Given the description of an element on the screen output the (x, y) to click on. 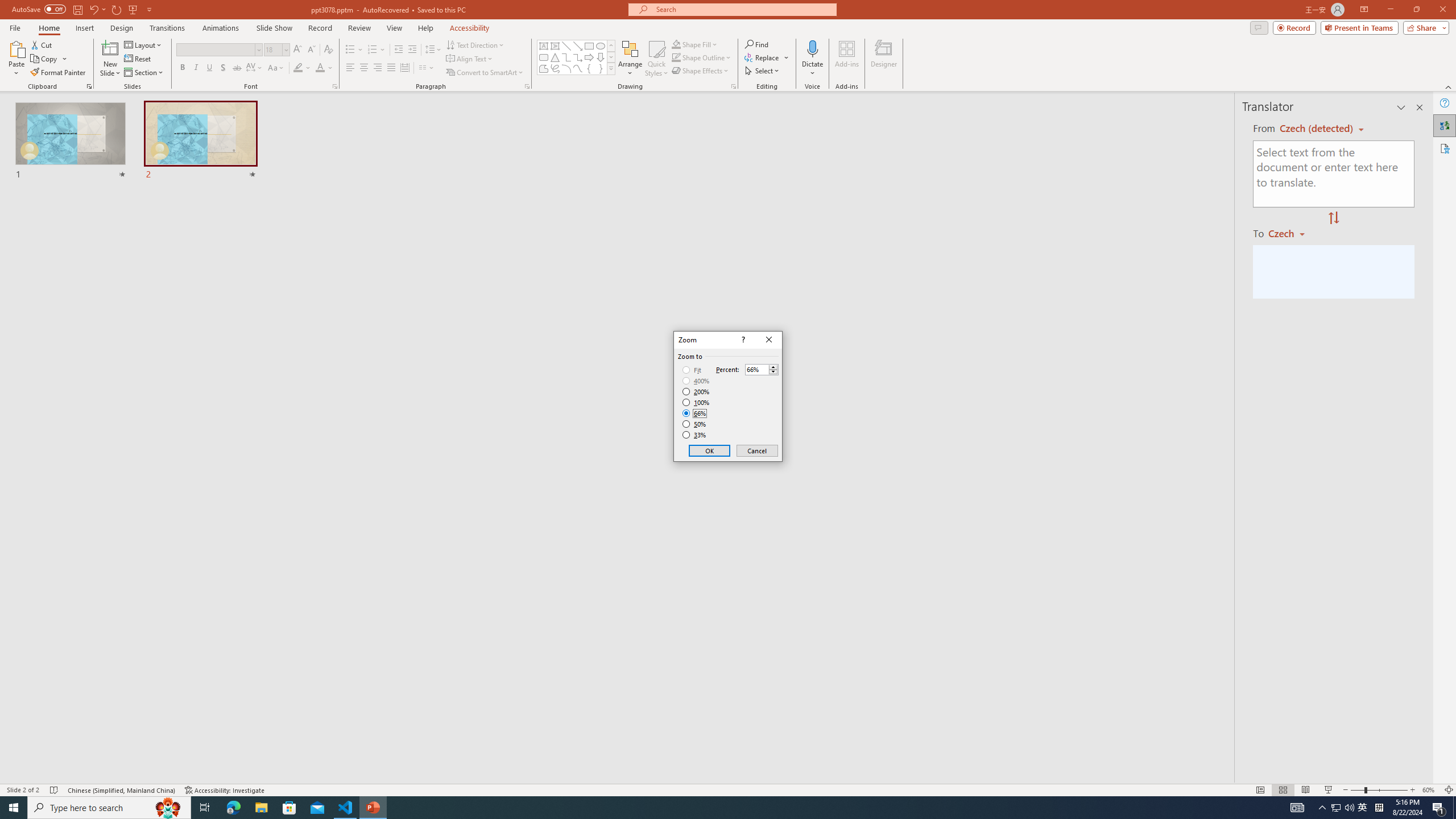
Percent (756, 369)
OK (709, 450)
